Given the description of an element on the screen output the (x, y) to click on. 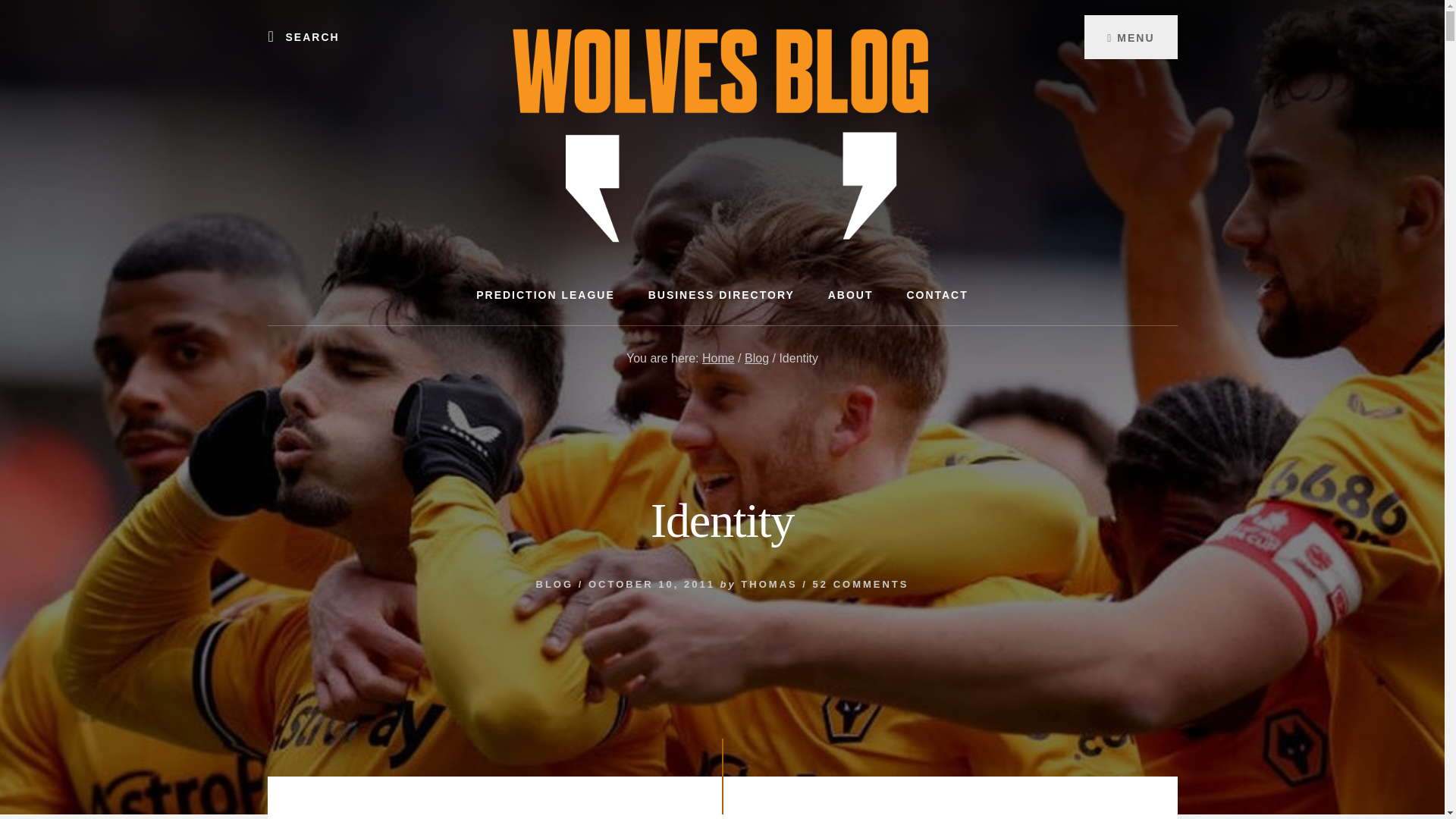
Home (718, 358)
BLOG (554, 583)
CONTACT (936, 295)
Blog (756, 358)
MENU (1130, 36)
BUSINESS DIRECTORY (721, 295)
THOMAS (768, 583)
ABOUT (850, 295)
52 COMMENTS (860, 583)
PREDICTION LEAGUE (545, 295)
